Given the description of an element on the screen output the (x, y) to click on. 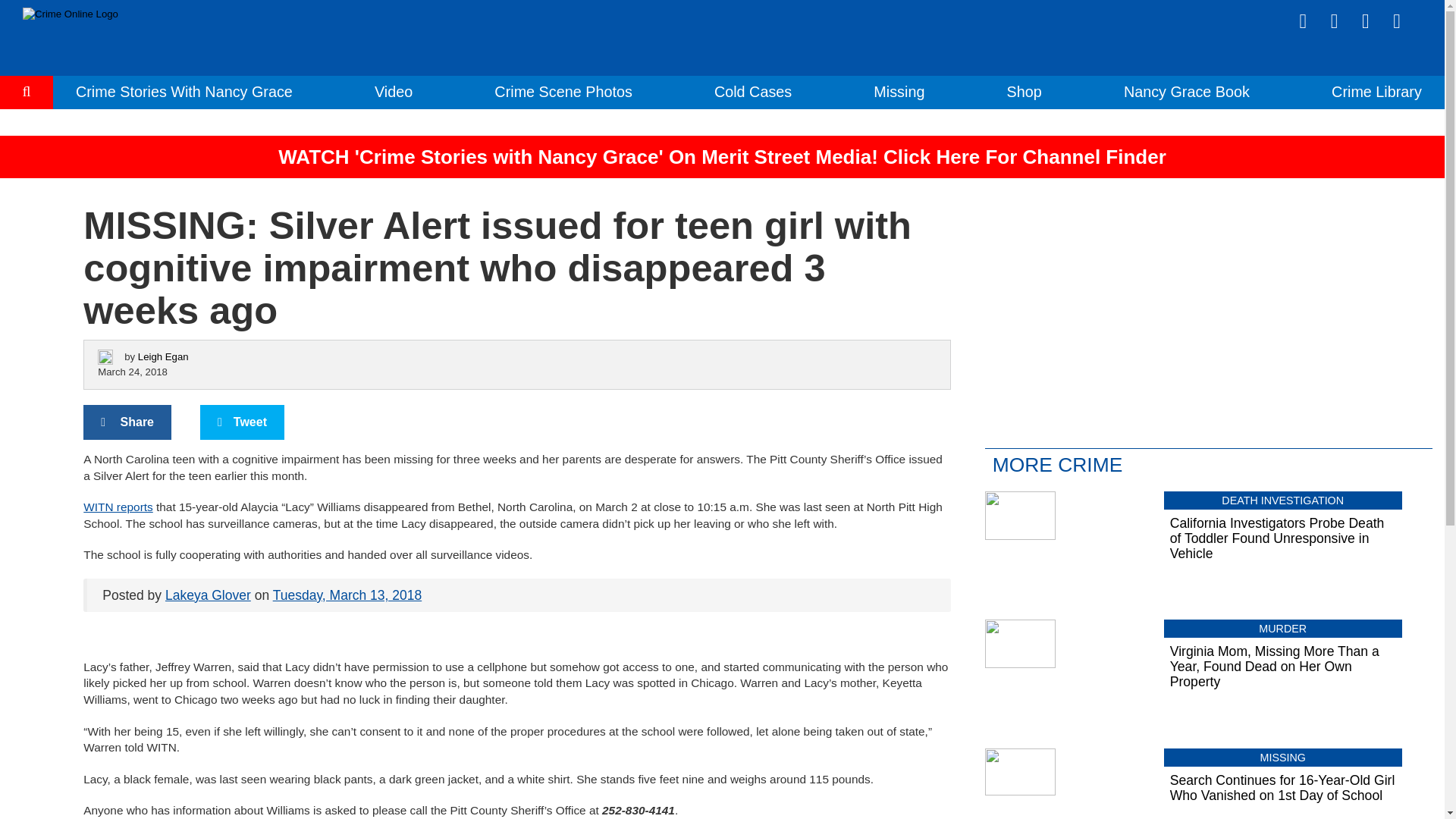
Nancy Grace Book (1186, 91)
Search (27, 138)
WITN reports (117, 506)
Missing (898, 91)
Video (393, 91)
Crime Library (1377, 91)
Posts by Leigh Egan (163, 356)
Tuesday, March 13, 2018 (347, 595)
March 24, 2018 (132, 371)
